Given the description of an element on the screen output the (x, y) to click on. 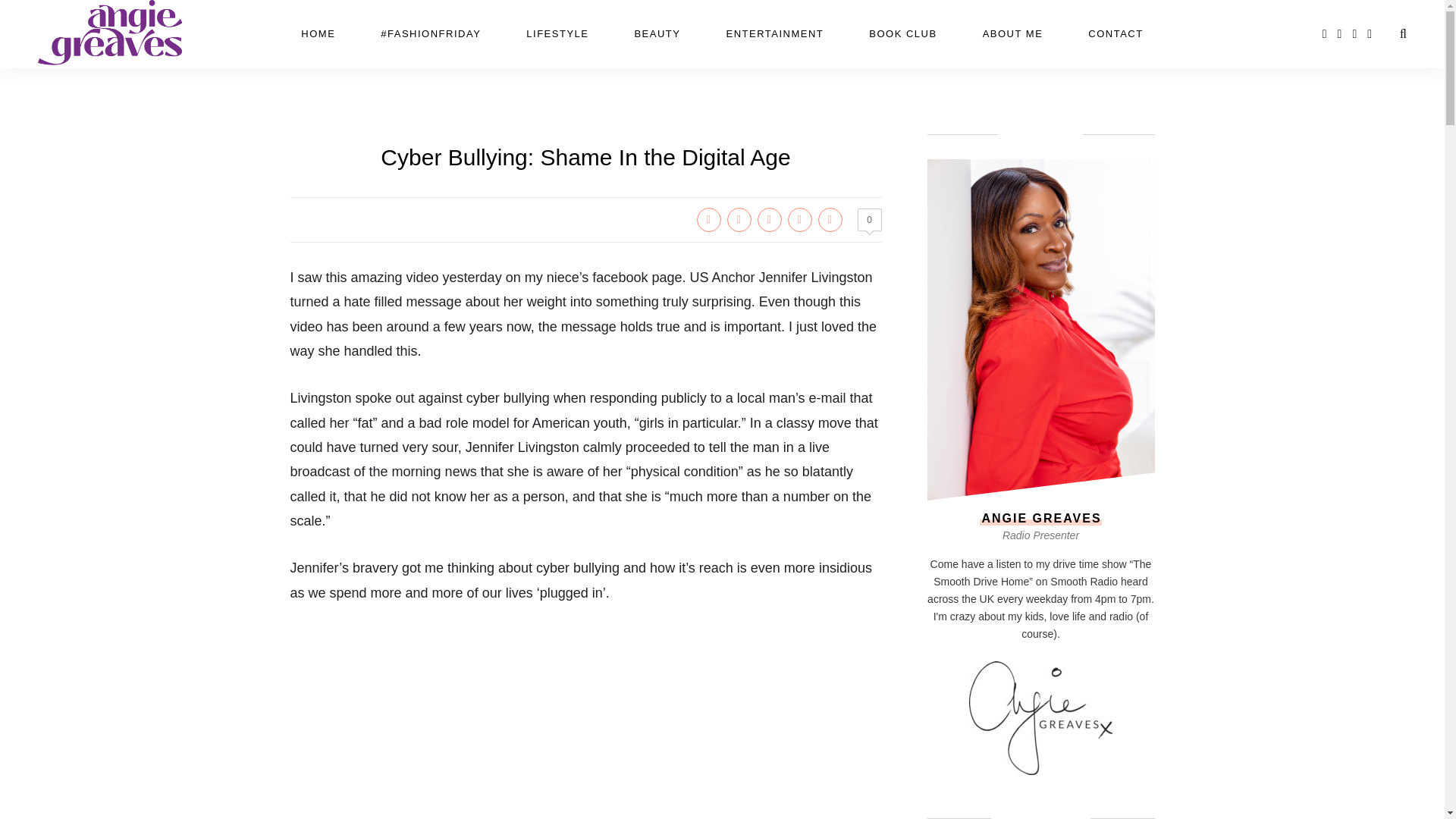
BOOK CLUB (902, 33)
ABOUT ME (1012, 33)
ENTERTAINMENT (774, 33)
LIFESTYLE (556, 33)
